Given the description of an element on the screen output the (x, y) to click on. 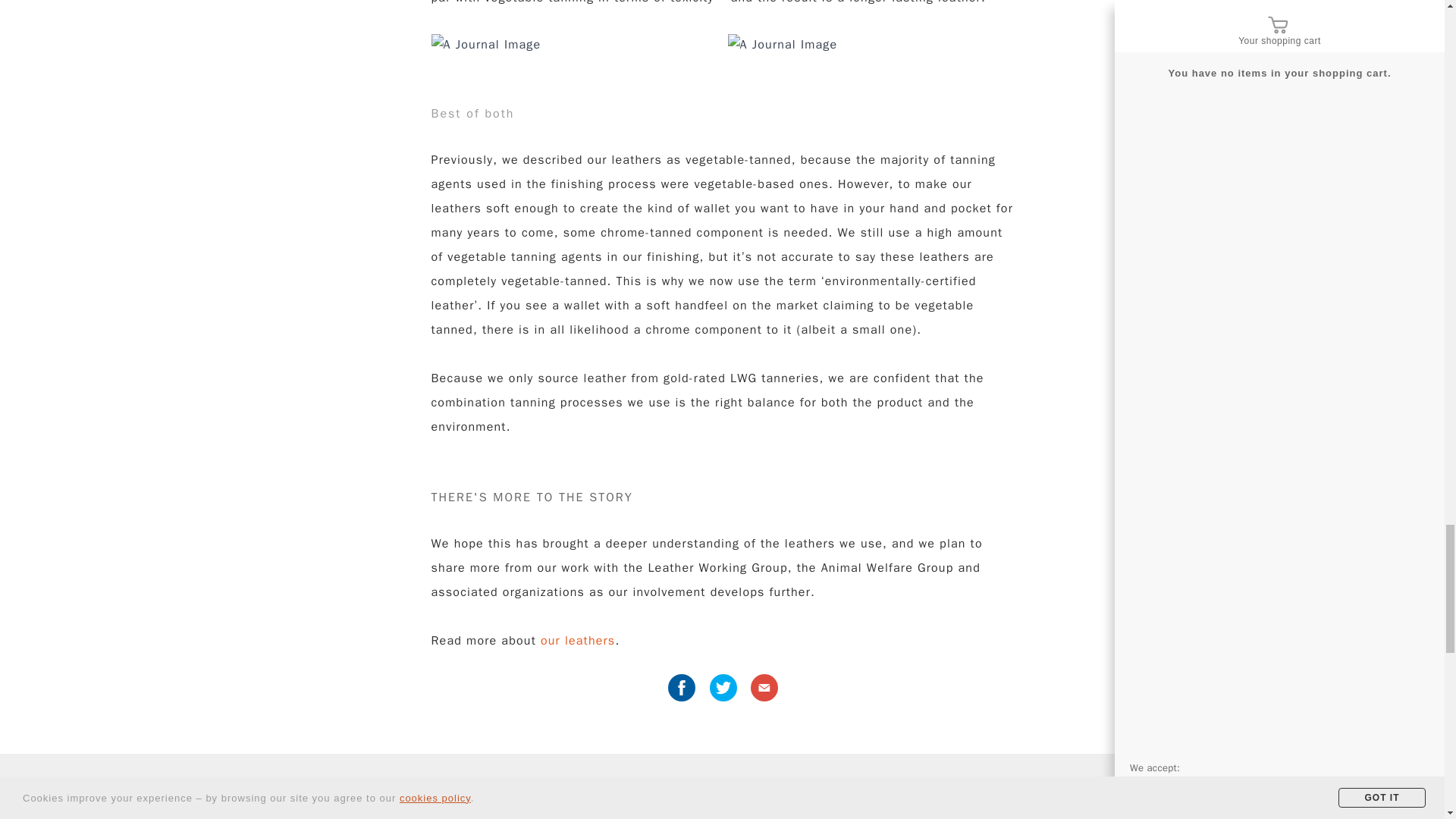
Twitter (723, 687)
E-mail (764, 687)
Facebook (681, 687)
